Given the description of an element on the screen output the (x, y) to click on. 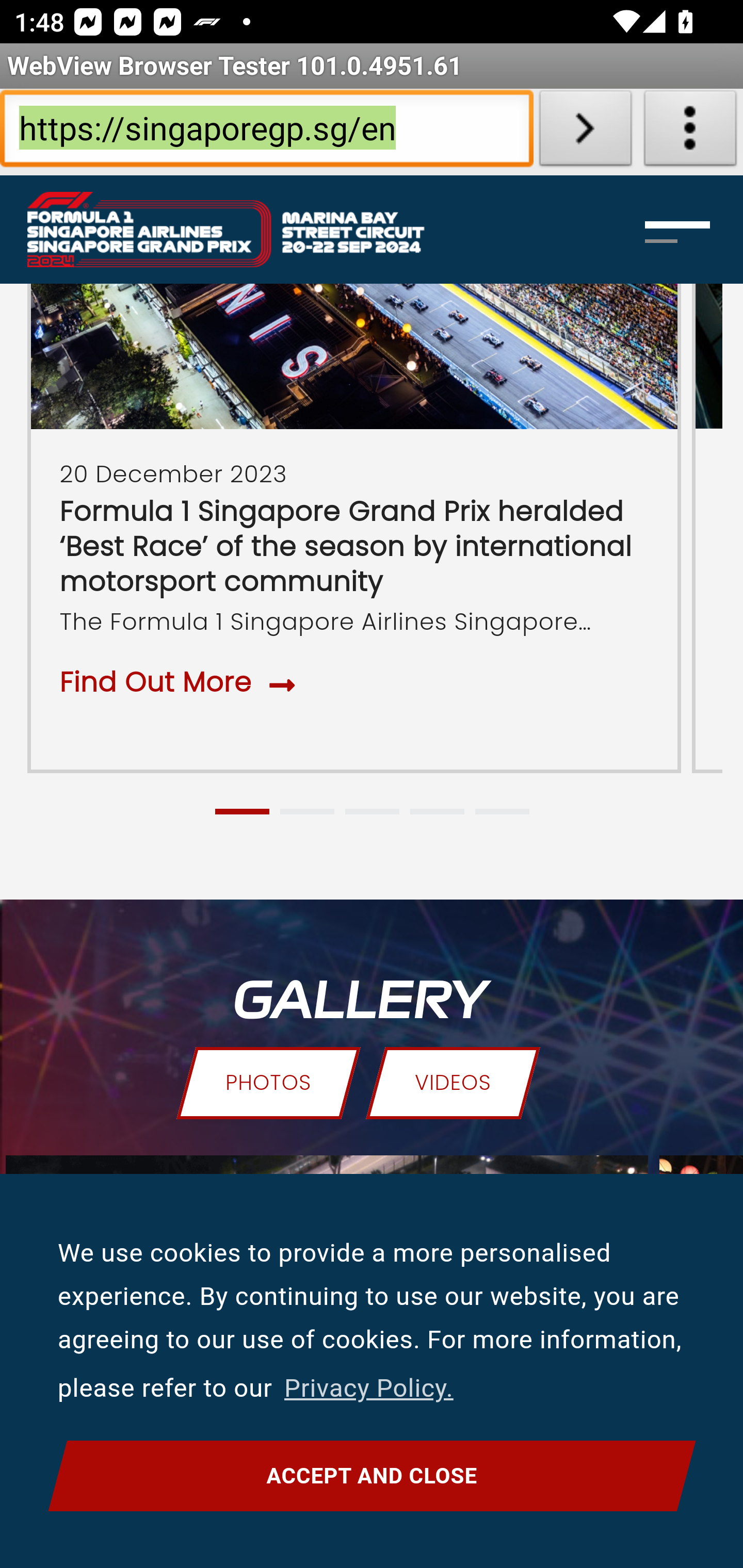
https://singaporegp.sg/en (266, 132)
Load URL (585, 132)
About WebView (690, 132)
Singapore Grand Prix Logo (247, 230)
PHOTOS (267, 1084)
VIDEOS (452, 1084)
learn more about cookies (368, 1389)
dismiss cookie message (371, 1476)
